Given the description of an element on the screen output the (x, y) to click on. 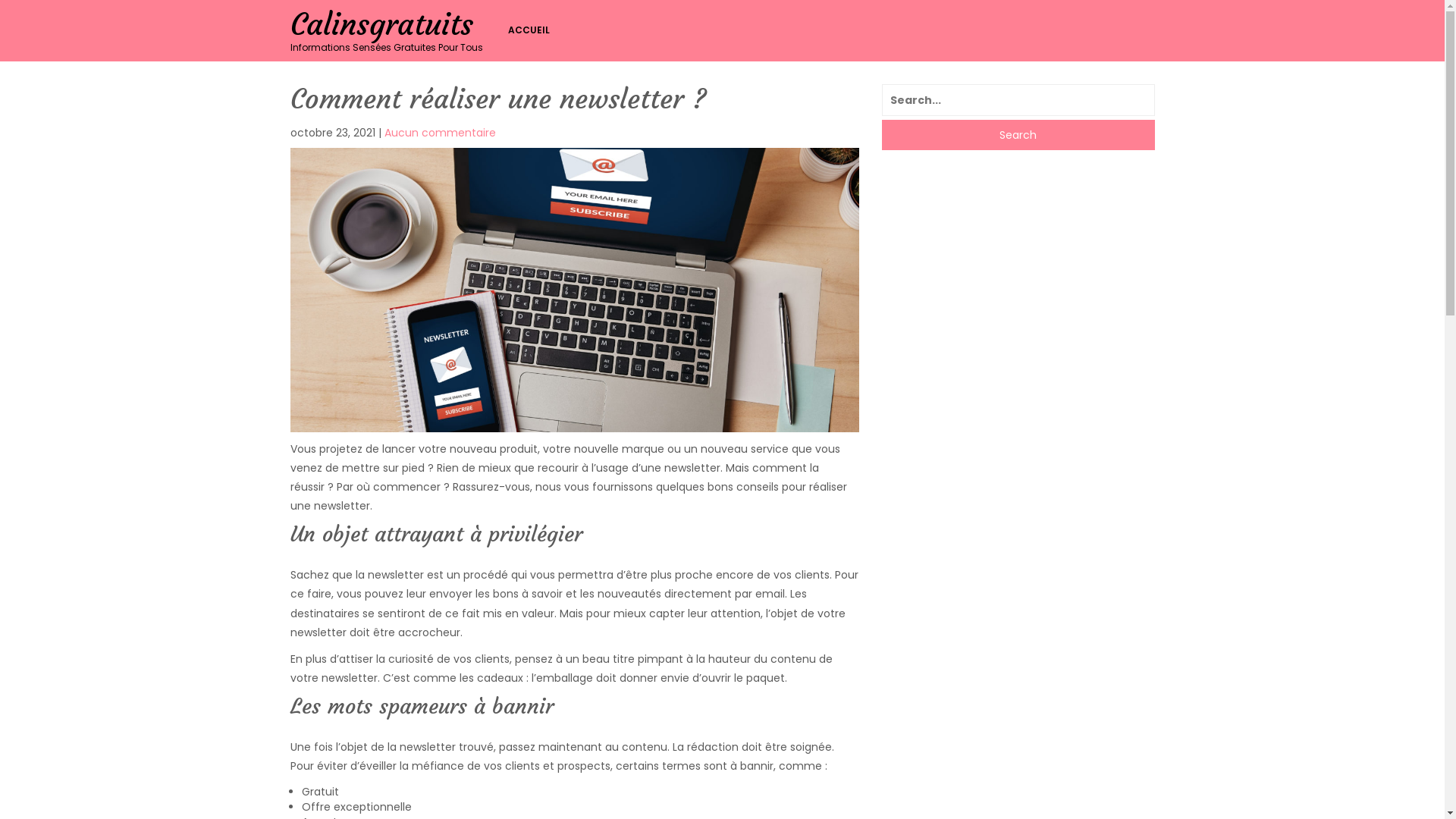
Calinsgratuits Element type: text (380, 24)
Search Element type: text (1017, 134)
ACCUEIL Element type: text (532, 29)
